Given the description of an element on the screen output the (x, y) to click on. 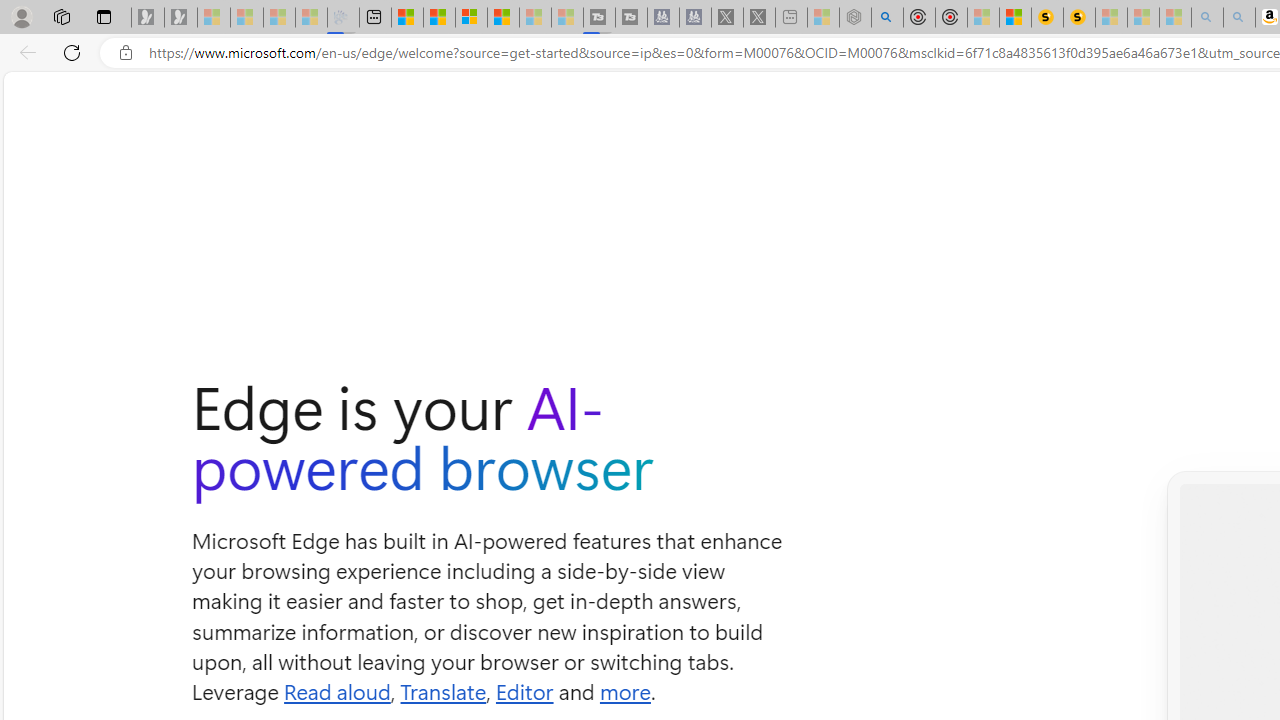
Wildlife - MSN - Sleeping (822, 17)
Microsoft Start - Sleeping (535, 17)
Michelle Starr, Senior Journalist at ScienceAlert (1078, 17)
poe - Search (886, 17)
